Given the description of an element on the screen output the (x, y) to click on. 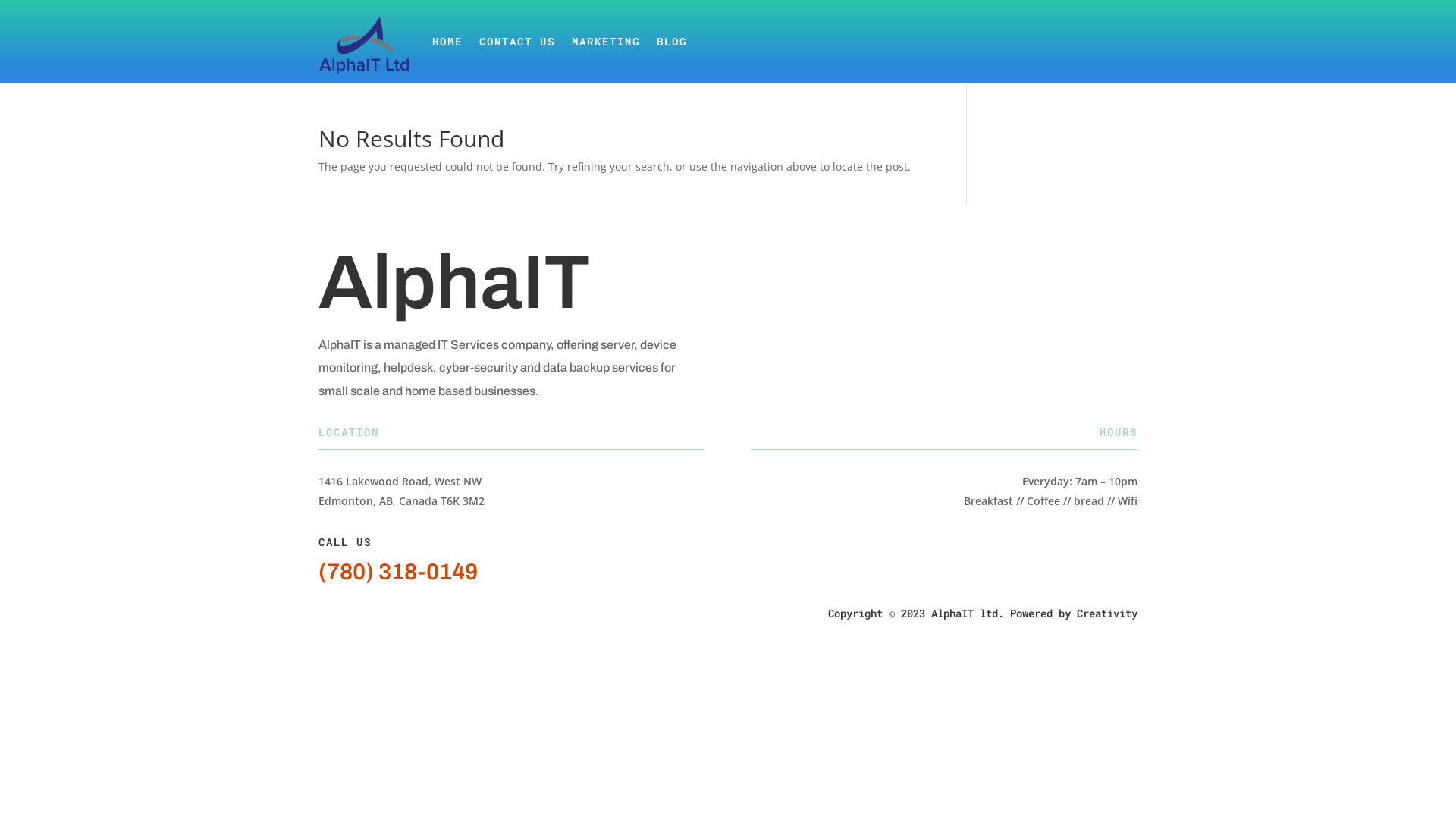
BLOG Element type: text (671, 41)
CONTACT US Element type: text (517, 41)
MARKETING Element type: text (605, 41)
HOME Element type: text (447, 41)
